Given the description of an element on the screen output the (x, y) to click on. 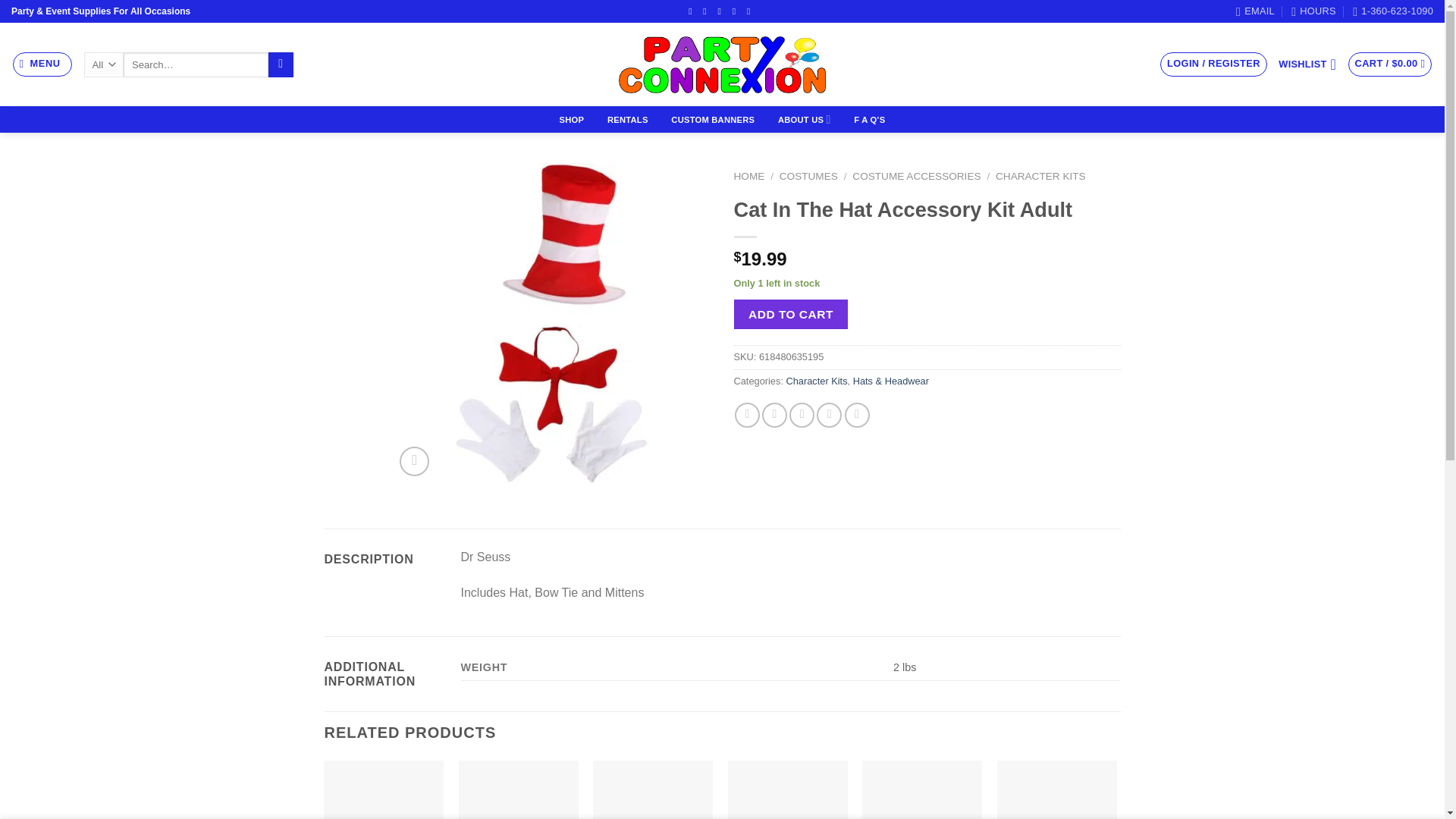
SHOP (571, 119)
RENTALS (627, 119)
COSTUME ACCESSORIES (915, 175)
Cart (1390, 64)
Wishlist (1307, 64)
EMAIL (1255, 11)
CHARACTER KITS (1040, 175)
Search (280, 64)
Login (1213, 64)
ABOUT US (804, 119)
